Given the description of an element on the screen output the (x, y) to click on. 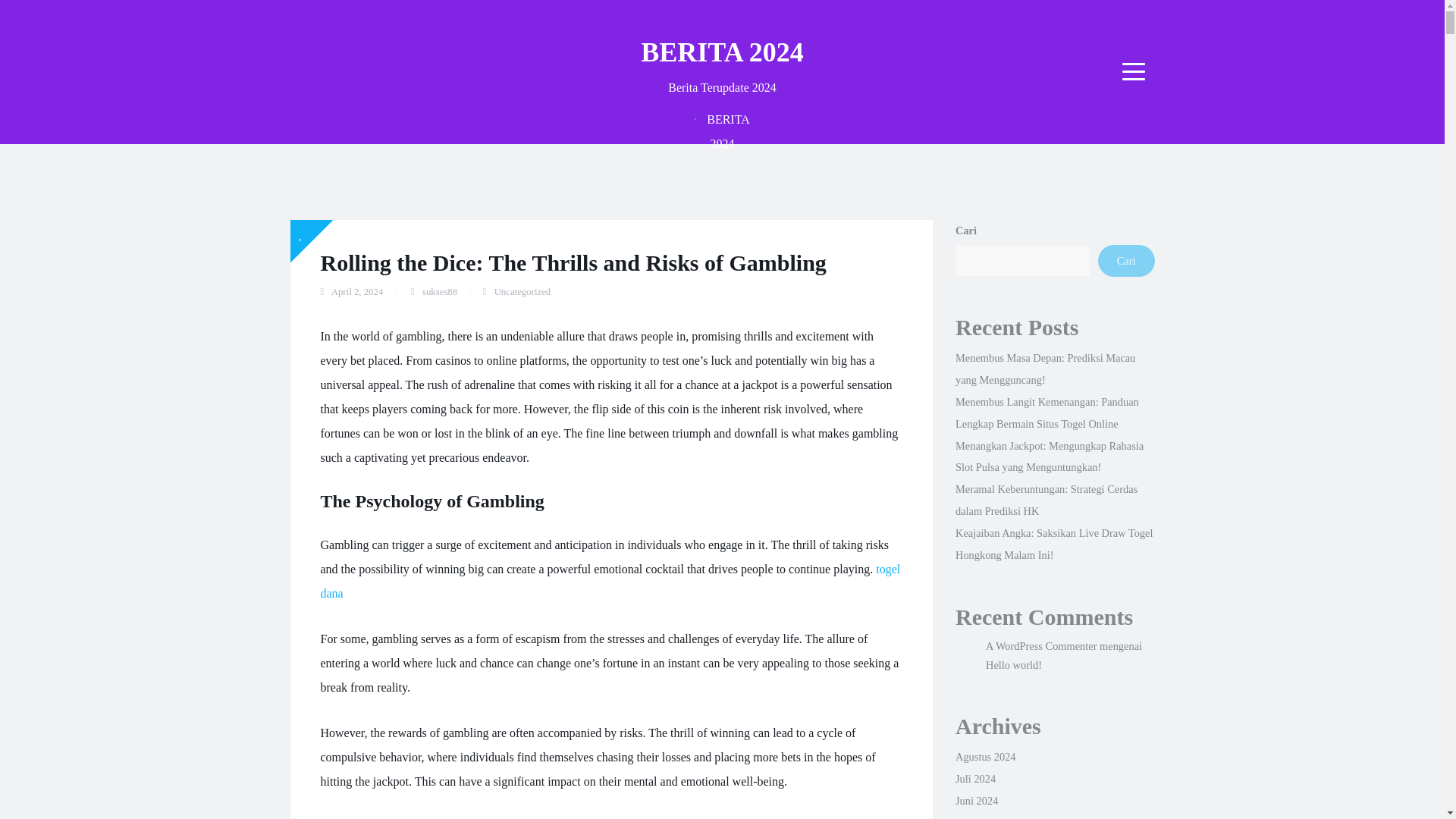
Rolling the Dice: The Thrills and Risks of Gambling (572, 262)
BERITA 2024 (721, 51)
sukses88 (439, 291)
Uncategorized (523, 291)
April 2, 2024 (357, 291)
Menu (1133, 71)
togel dana (609, 580)
